Given the description of an element on the screen output the (x, y) to click on. 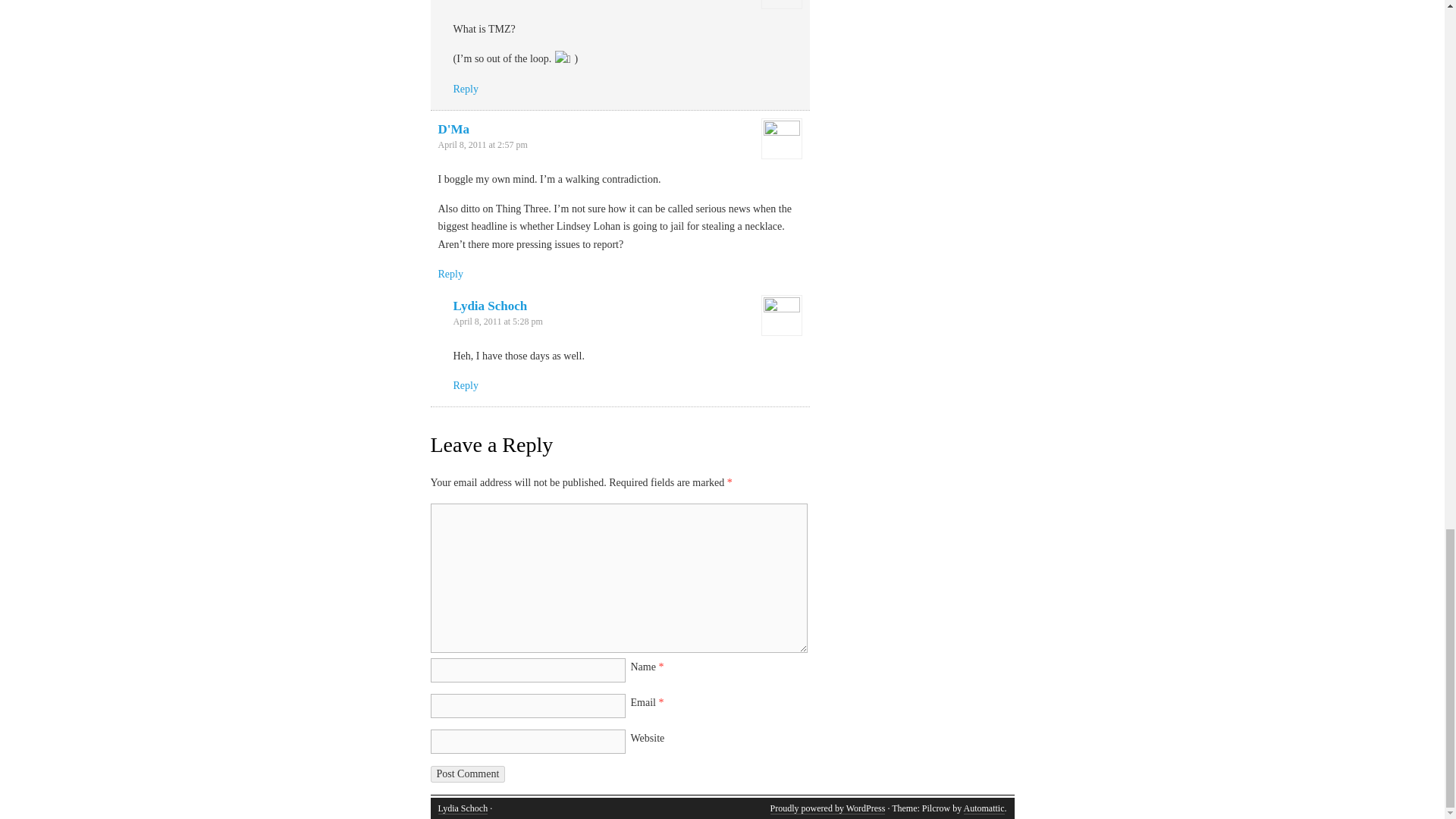
D'Ma (454, 129)
Lydia Schoch (489, 305)
A Semantic Personal Publishing Platform (827, 808)
Reply (450, 274)
Post Comment (467, 773)
Reply (465, 385)
April 8, 2011 at 5:28 pm (497, 321)
Lydia Schoch (462, 808)
April 8, 2011 at 2:57 pm (482, 144)
Reply (465, 89)
Post Comment (467, 773)
